Given the description of an element on the screen output the (x, y) to click on. 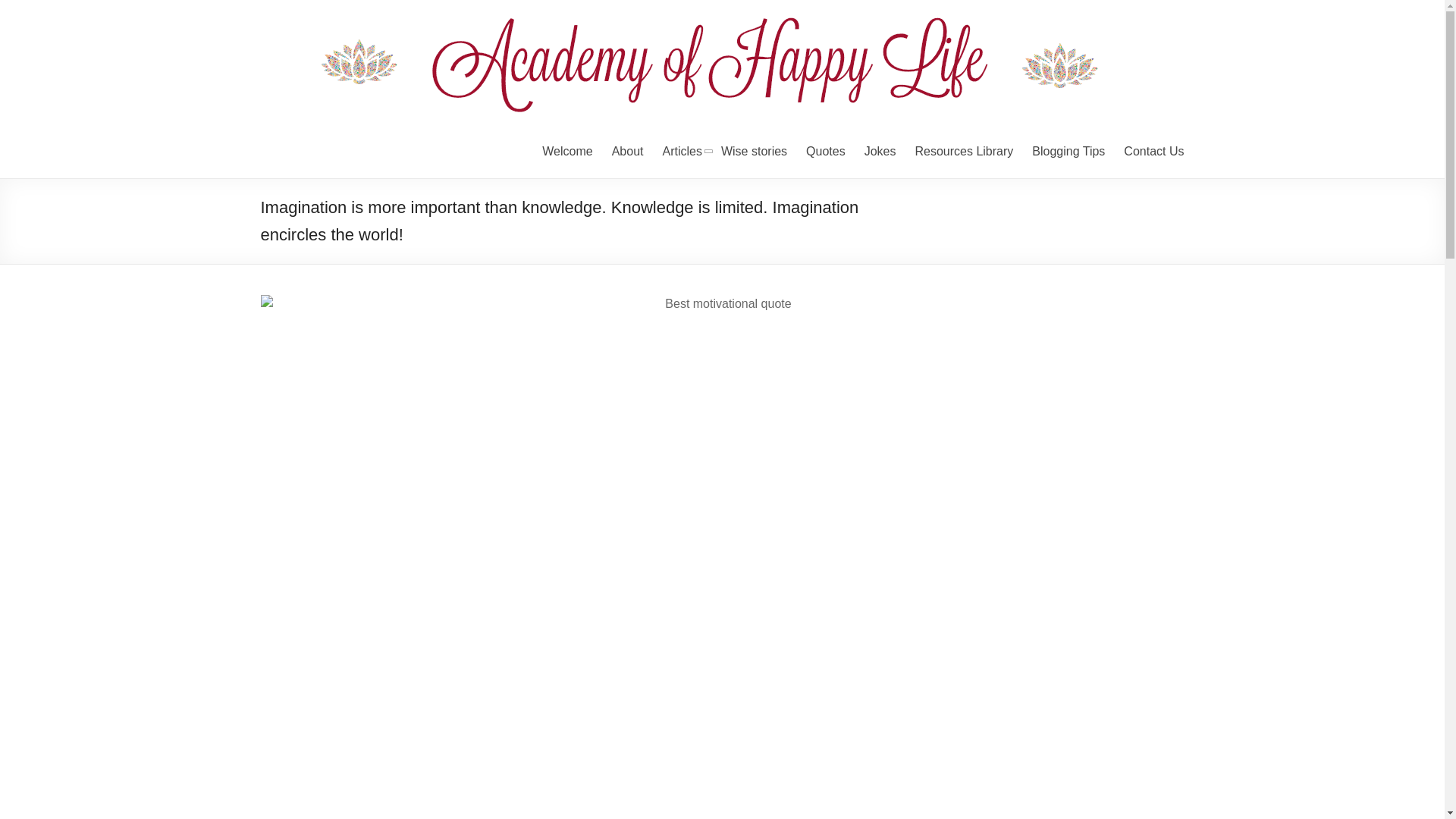
Academy of happy life (311, 74)
Quotes (825, 151)
Contact Us (1153, 151)
Academy of happy life (311, 74)
Blogging Tips (1068, 151)
Jokes (880, 151)
Resources Library (963, 151)
Wise stories (753, 151)
About (627, 151)
Articles (681, 151)
Welcome (566, 151)
